Given the description of an element on the screen output the (x, y) to click on. 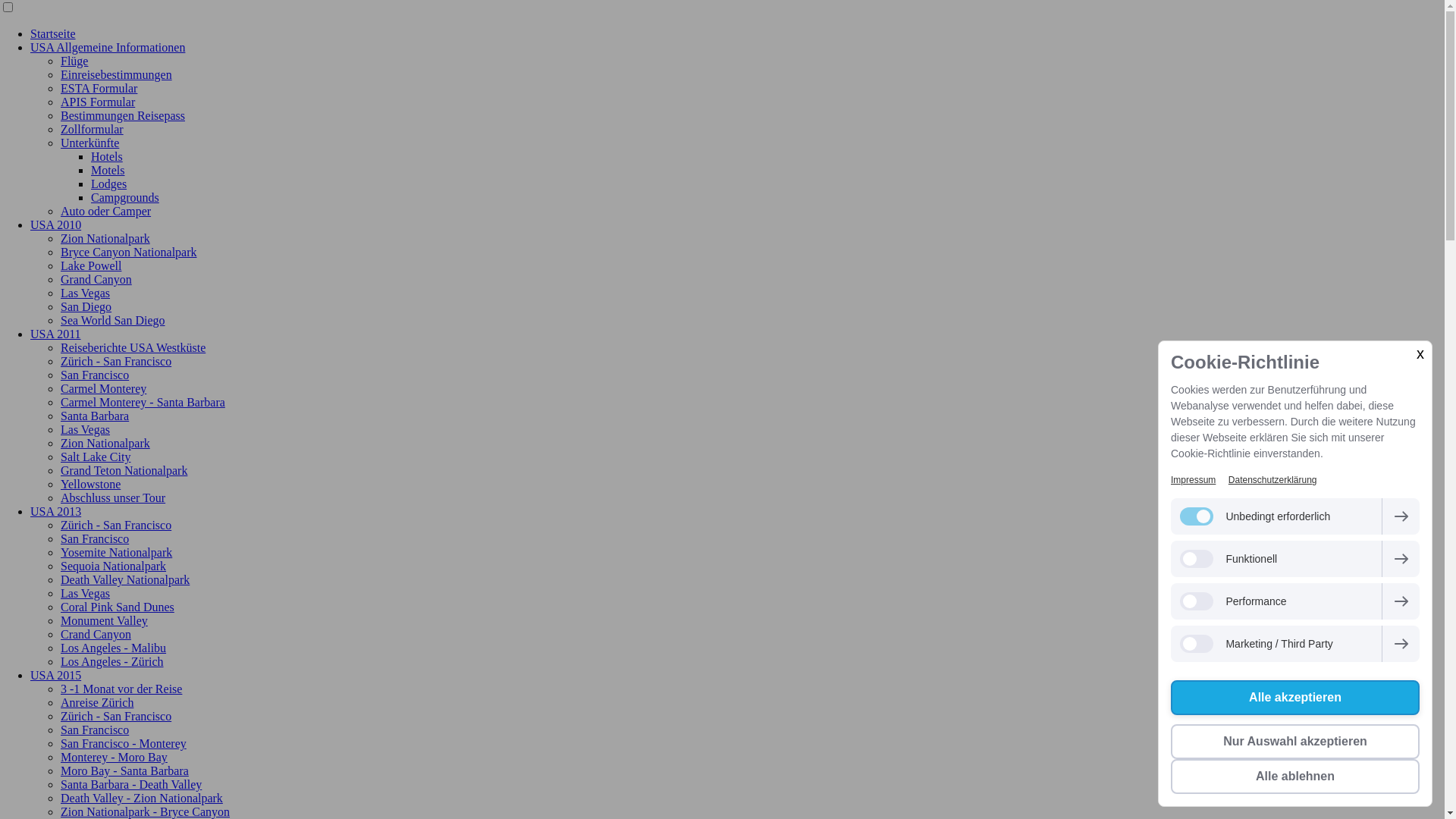
3 -1 Monat vor der Reise Element type: text (121, 688)
Santa Barbara Element type: text (94, 415)
Crand Canyon Element type: text (95, 633)
Bestimmungen Reisepass Element type: text (122, 115)
Auto oder Camper Element type: text (105, 210)
Grand Canyon Element type: text (95, 279)
Monterey - Moro Bay Element type: text (113, 756)
USA 2011 Element type: text (55, 333)
Carmel Monterey - Santa Barbara Element type: text (142, 401)
Abschluss unser Tour Element type: text (112, 497)
San Francisco Element type: text (94, 374)
USA 2013 Element type: text (55, 511)
Startseite Element type: text (52, 33)
USA 2010 Element type: text (55, 224)
Las Vegas Element type: text (84, 292)
USA Allgemeine Informationen Element type: text (107, 46)
Moro Bay - Santa Barbara Element type: text (124, 770)
Grand Teton Nationalpark Element type: text (123, 470)
Salt Lake City Element type: text (95, 456)
Las Vegas Element type: text (84, 429)
Santa Barbara - Death Valley Element type: text (130, 784)
Zion Nationalpark Element type: text (105, 238)
Alle akzeptieren Element type: text (1294, 697)
Sea World San Diego Element type: text (112, 319)
Lake Powell Element type: text (90, 265)
Yellowstone Element type: text (90, 483)
Zion Nationalpark - Bryce Canyon Element type: text (144, 811)
ESTA Formular Element type: text (98, 87)
San Francisco Element type: text (94, 538)
Zion Nationalpark Element type: text (105, 442)
Motels Element type: text (107, 169)
Zollformular Element type: text (91, 128)
Lodges Element type: text (108, 183)
Hotels Element type: text (106, 156)
Los Angeles - Malibu Element type: text (113, 647)
Death Valley Nationalpark Element type: text (124, 579)
Campgrounds Element type: text (125, 197)
San Diego Element type: text (85, 306)
San Francisco Element type: text (94, 729)
Monument Valley Element type: text (103, 620)
Alle ablehnen Element type: text (1294, 776)
Death Valley - Zion Nationalpark Element type: text (141, 797)
USA 2015 Element type: text (55, 674)
Sequoia Nationalpark Element type: text (113, 565)
Coral Pink Sand Dunes Element type: text (117, 606)
Impressum Element type: text (1192, 479)
Las Vegas Element type: text (84, 592)
Einreisebestimmungen Element type: text (116, 74)
Nur Auswahl akzeptieren Element type: text (1294, 741)
San Francisco - Monterey Element type: text (123, 743)
Yosemite Nationalpark Element type: text (116, 552)
Carmel Monterey Element type: text (103, 388)
Bryce Canyon Nationalpark Element type: text (128, 251)
APIS Formular Element type: text (97, 101)
